Given the description of an element on the screen output the (x, y) to click on. 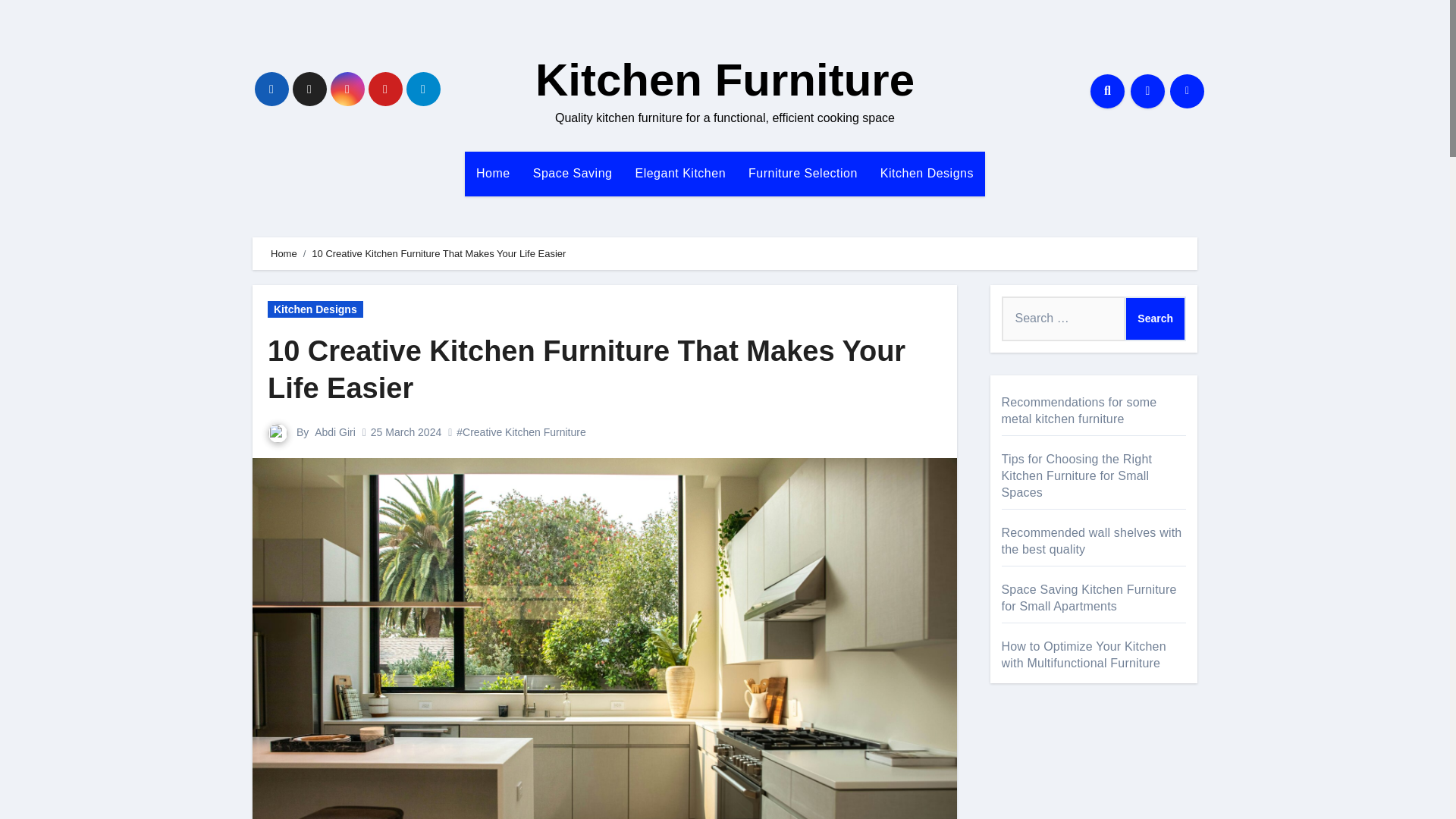
25 March 2024 (406, 431)
Elegant Kitchen (679, 173)
Space Saving (572, 173)
Kitchen Designs (927, 173)
Furniture Selection (802, 173)
10 Creative Kitchen Furniture That Makes Your Life Easier (586, 369)
Kitchen Designs (927, 173)
Home (492, 173)
Space Saving (572, 173)
Kitchen Designs (314, 309)
